Given the description of an element on the screen output the (x, y) to click on. 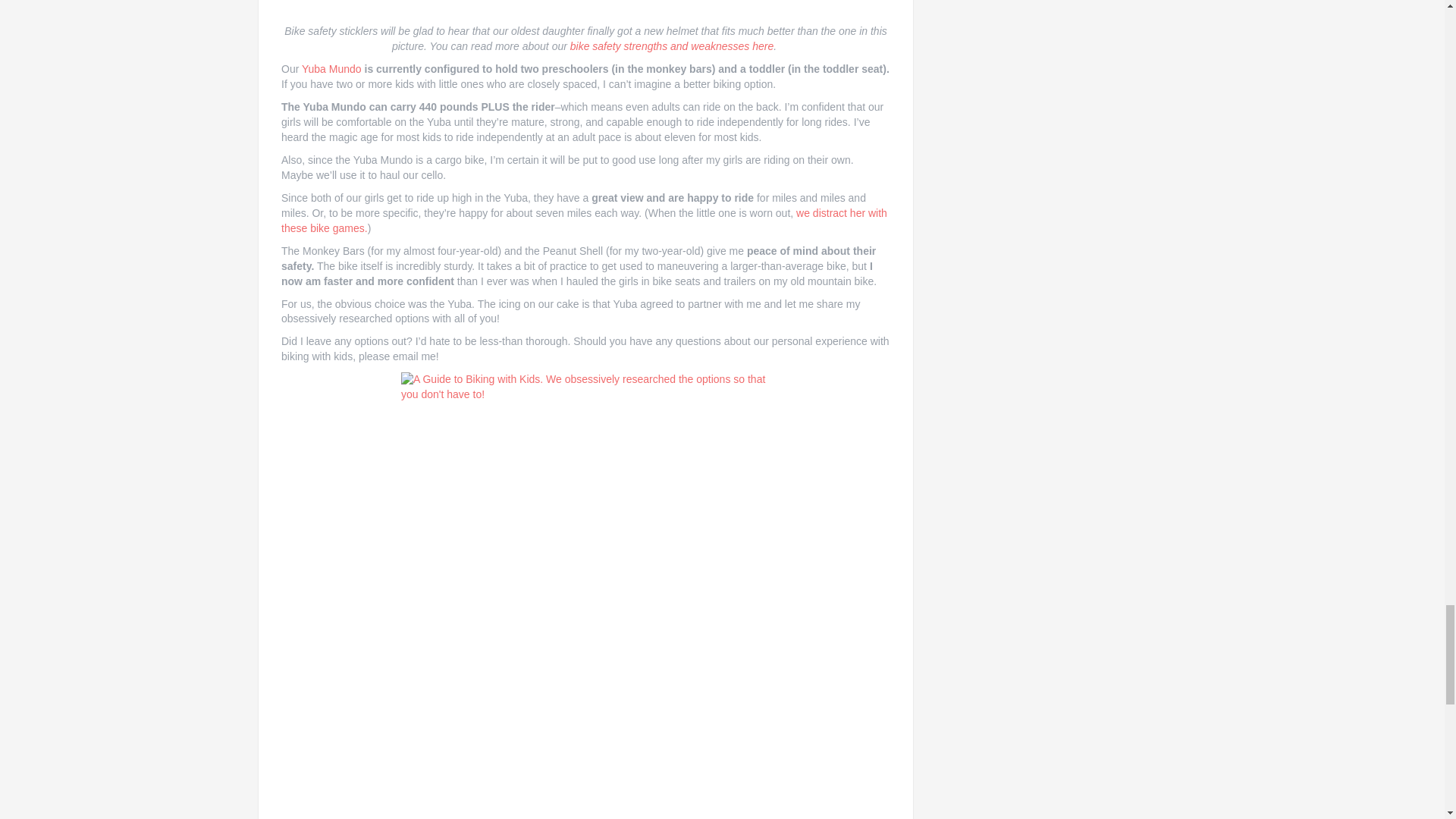
we distract her with these bike games. (583, 220)
bike safety strengths and weaknesses here (672, 46)
Yuba Mundo (333, 69)
